Given the description of an element on the screen output the (x, y) to click on. 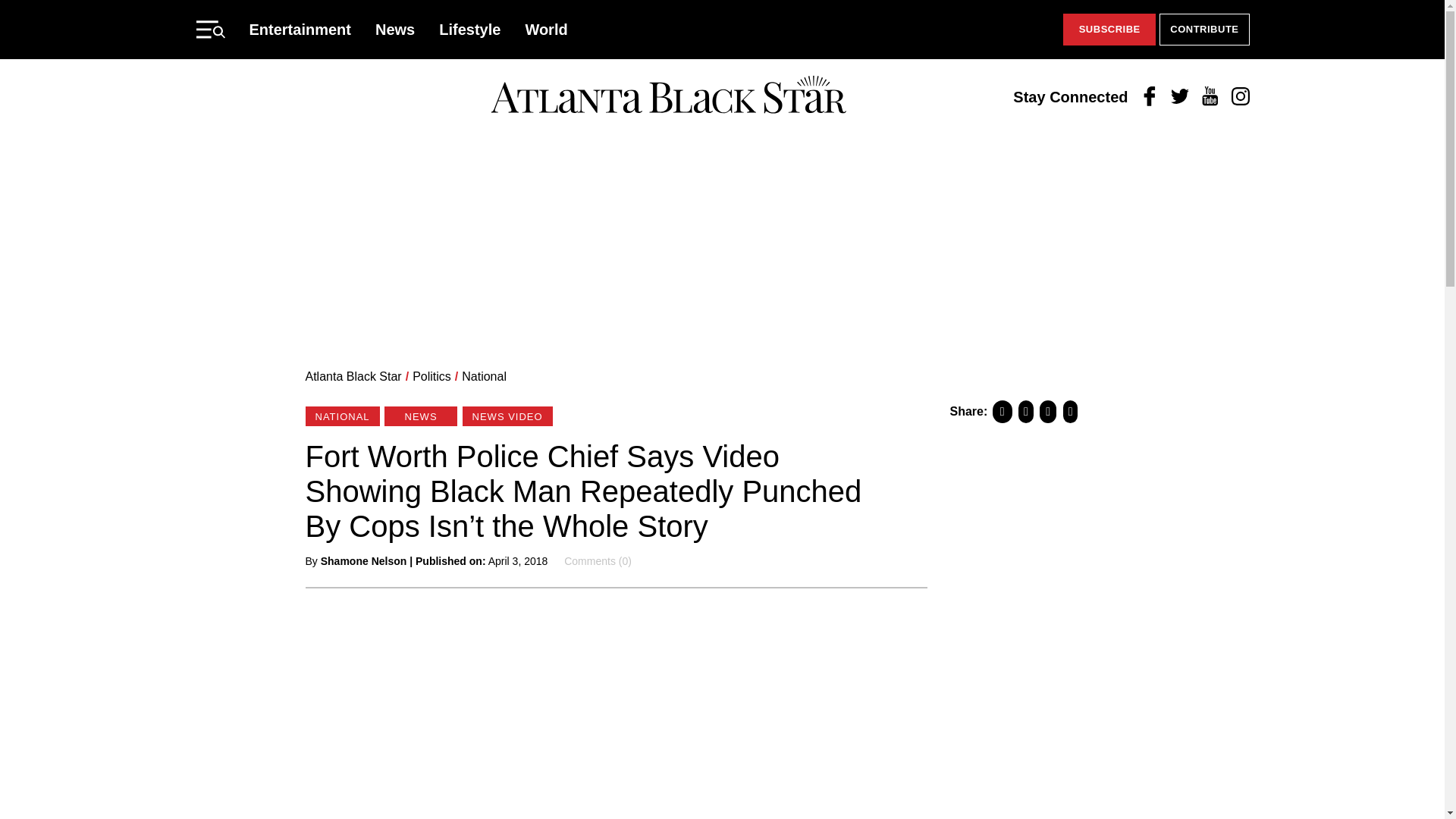
Go to the Politics Category archives. (431, 376)
SUBSCRIBE (1109, 29)
Lifestyle (469, 29)
NEWS (420, 415)
Atlanta Black Star (352, 376)
World (545, 29)
Go to the National Category archives. (483, 376)
News (394, 29)
Atlanta Black Star (667, 96)
National (483, 376)
